Given the description of an element on the screen output the (x, y) to click on. 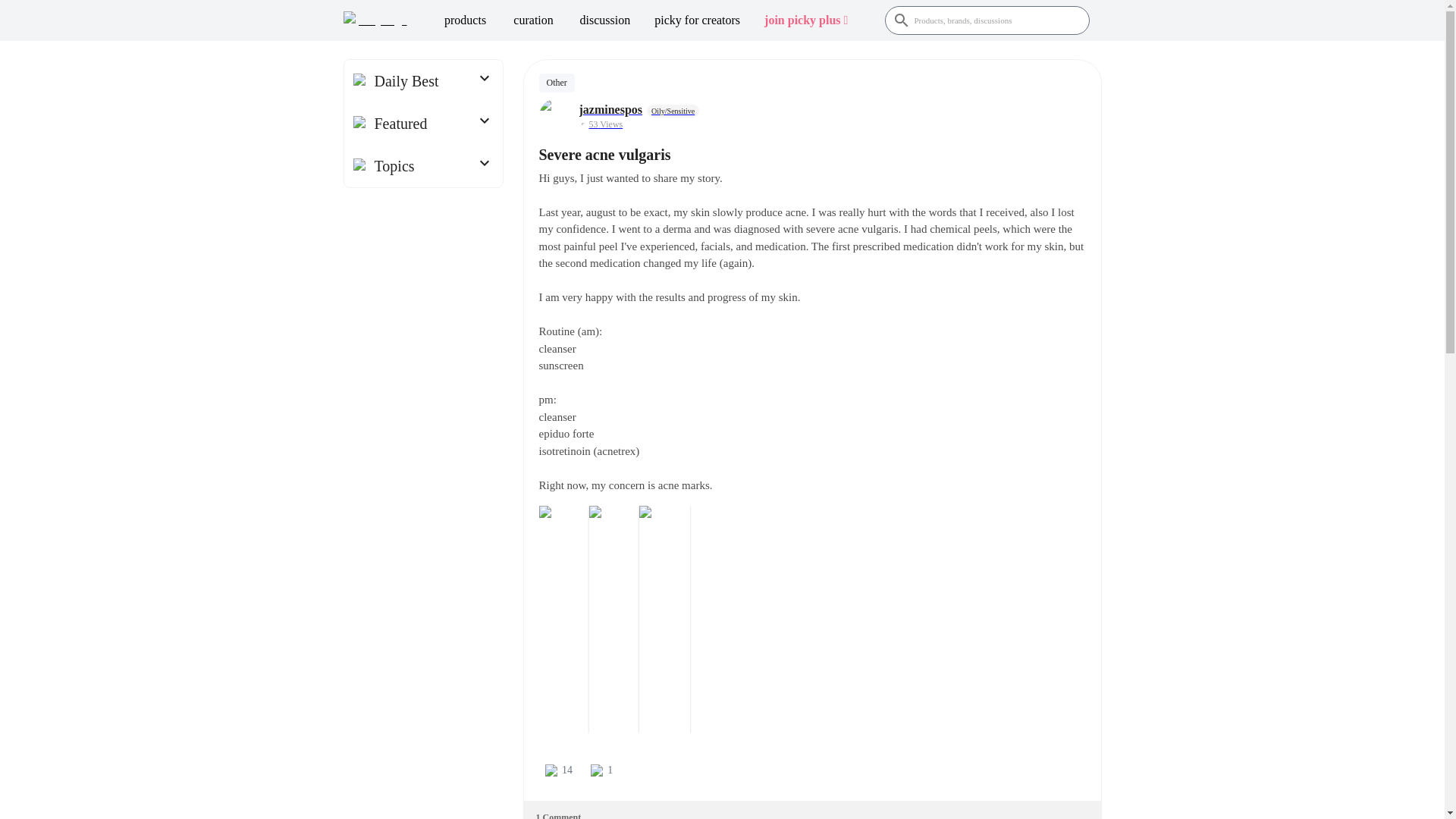
curation (533, 20)
products (464, 20)
discussion (605, 20)
picky for creators (697, 20)
